Given the description of an element on the screen output the (x, y) to click on. 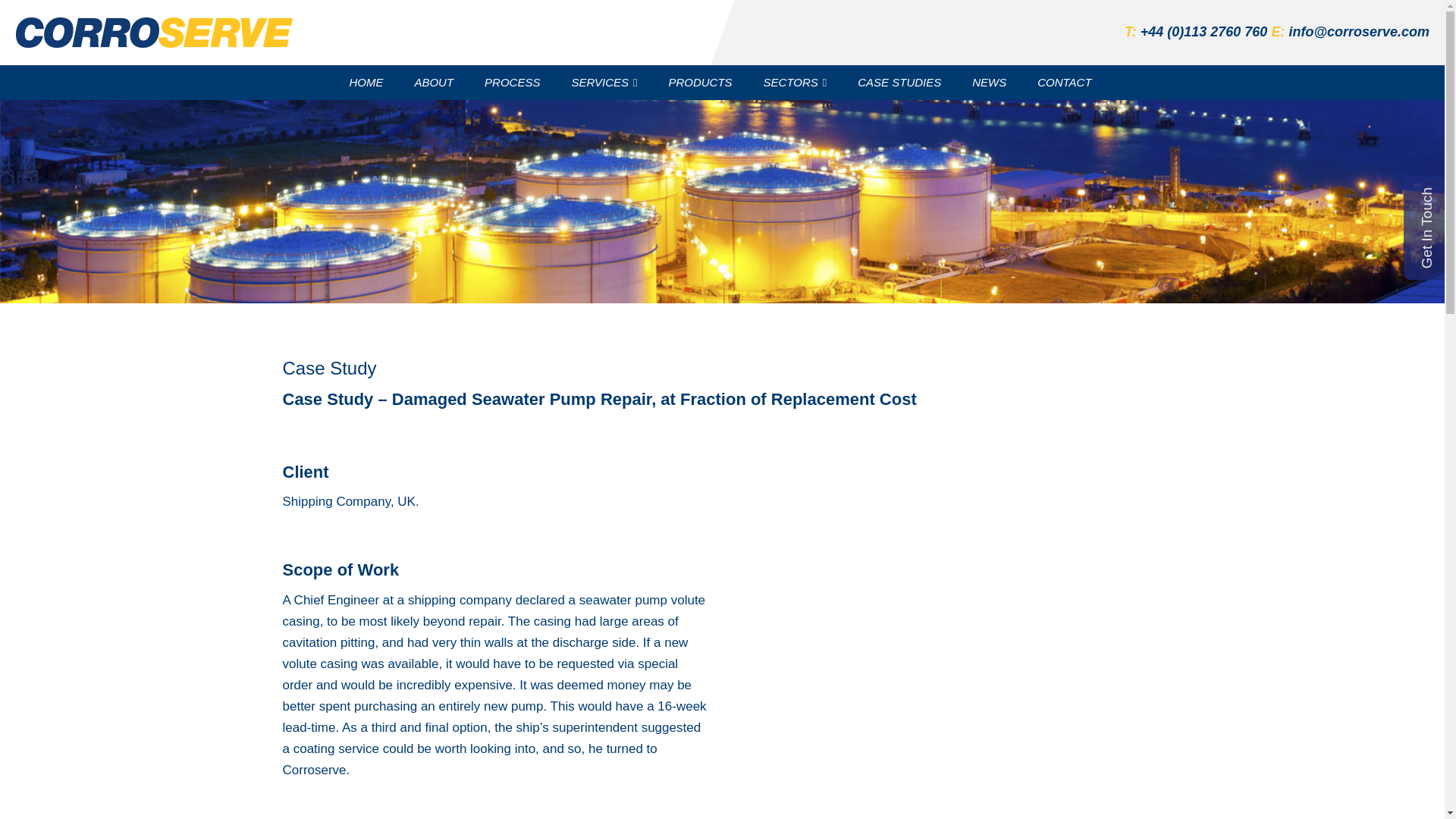
ABOUT (435, 82)
SECTORS (796, 82)
PRODUCTS (701, 82)
CASE STUDIES (901, 82)
HOME (367, 82)
NEWS (990, 82)
SERVICES (605, 82)
CONTACT (1065, 82)
PROCESS (513, 82)
